Given the description of an element on the screen output the (x, y) to click on. 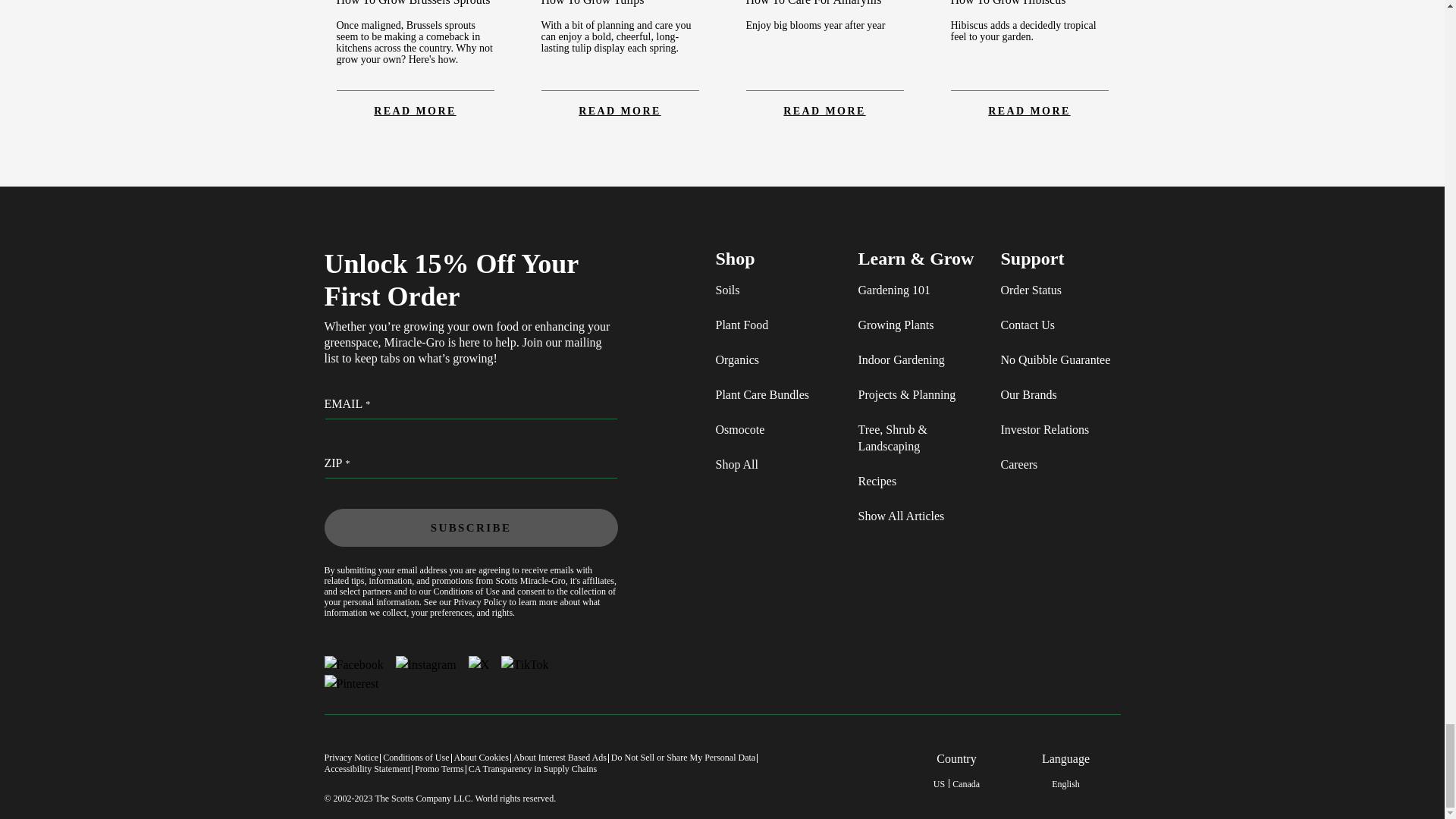
X (478, 665)
Pinterest (351, 683)
Instagram (426, 665)
TikTok (524, 665)
Facebook (354, 665)
